Given the description of an element on the screen output the (x, y) to click on. 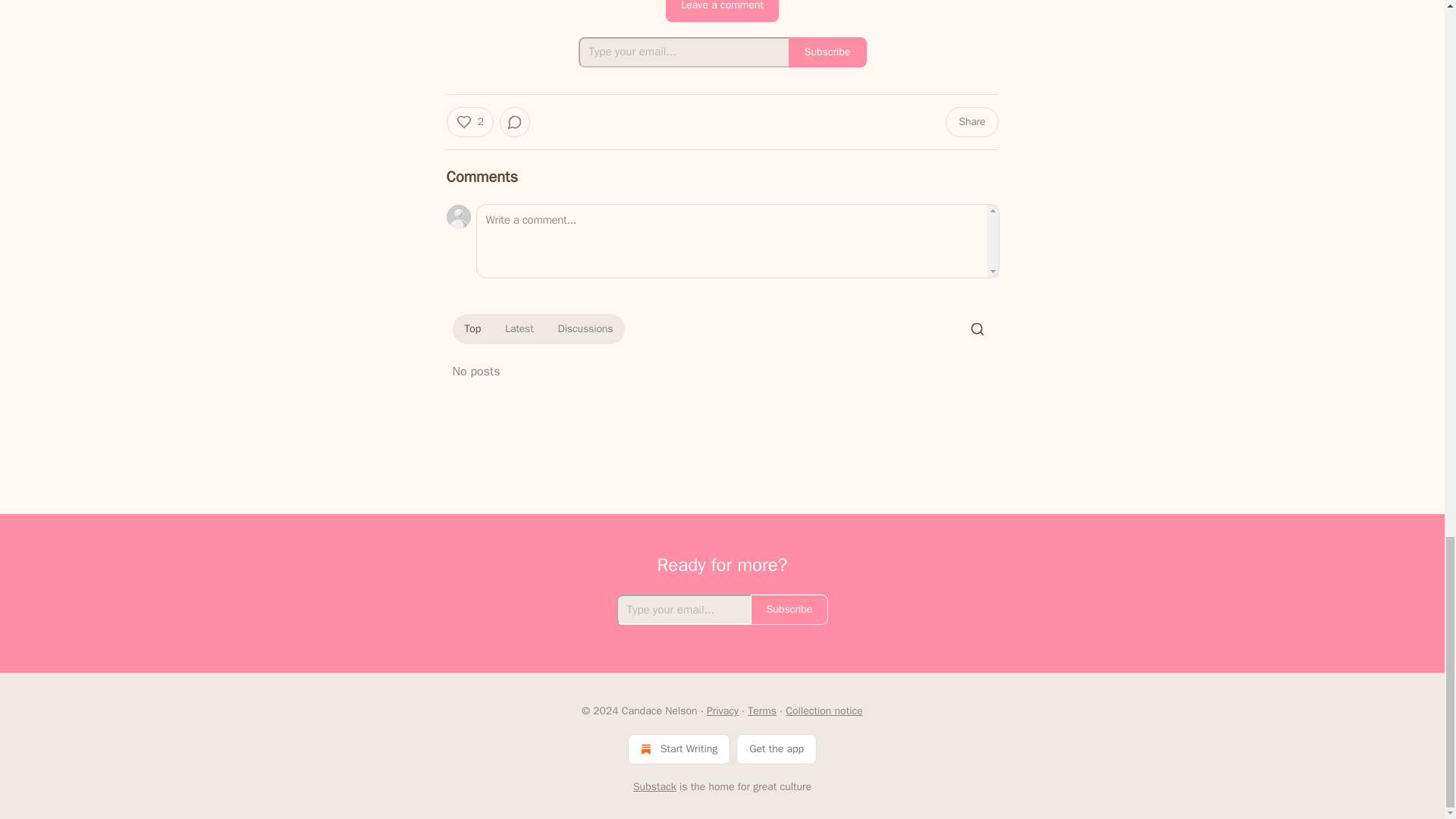
Discussions (585, 328)
Subscribe (827, 51)
Top (471, 328)
2 (469, 122)
Leave a comment (721, 11)
Latest (518, 328)
Share (970, 122)
